Given the description of an element on the screen output the (x, y) to click on. 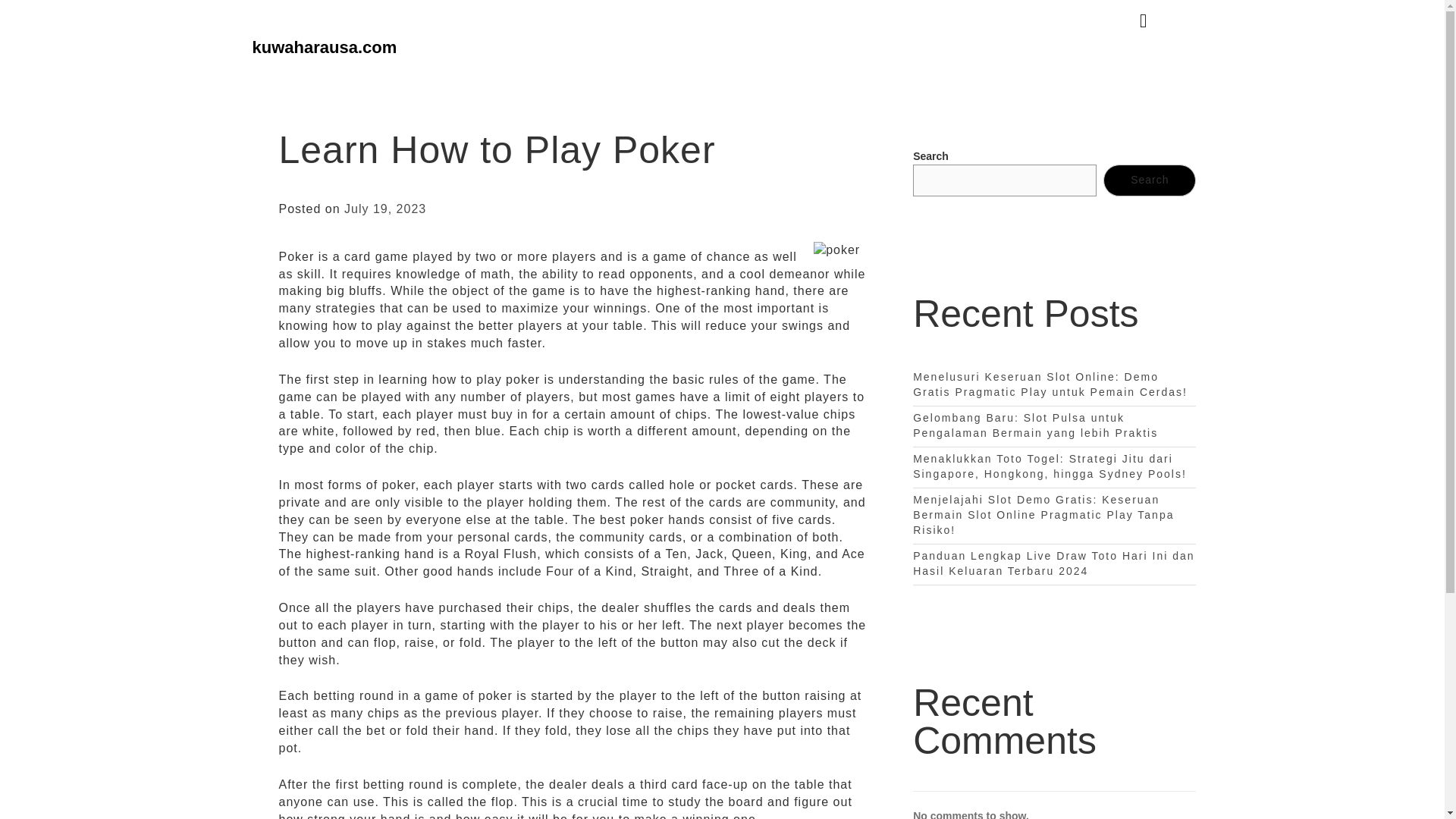
Search (1149, 180)
July 19, 2023 (384, 208)
kuwaharausa.com (323, 46)
